Given the description of an element on the screen output the (x, y) to click on. 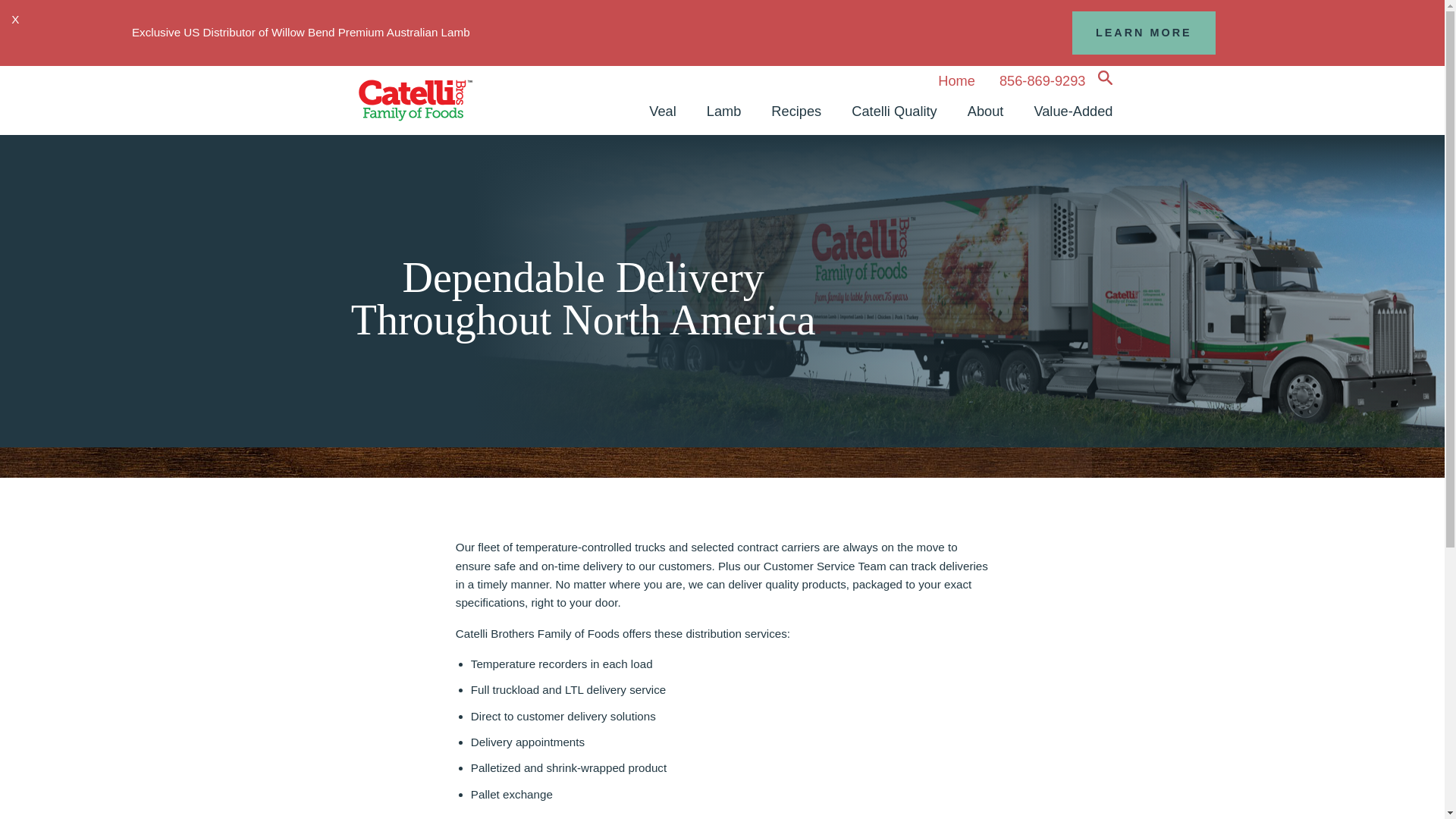
LEARN MORE (1143, 32)
Catelli Quality (893, 111)
About (985, 111)
856-869-9293 (1042, 76)
Recipes (795, 111)
Veal (662, 111)
Lamb (724, 111)
Value-Added (1071, 111)
Home (956, 76)
